Given the description of an element on the screen output the (x, y) to click on. 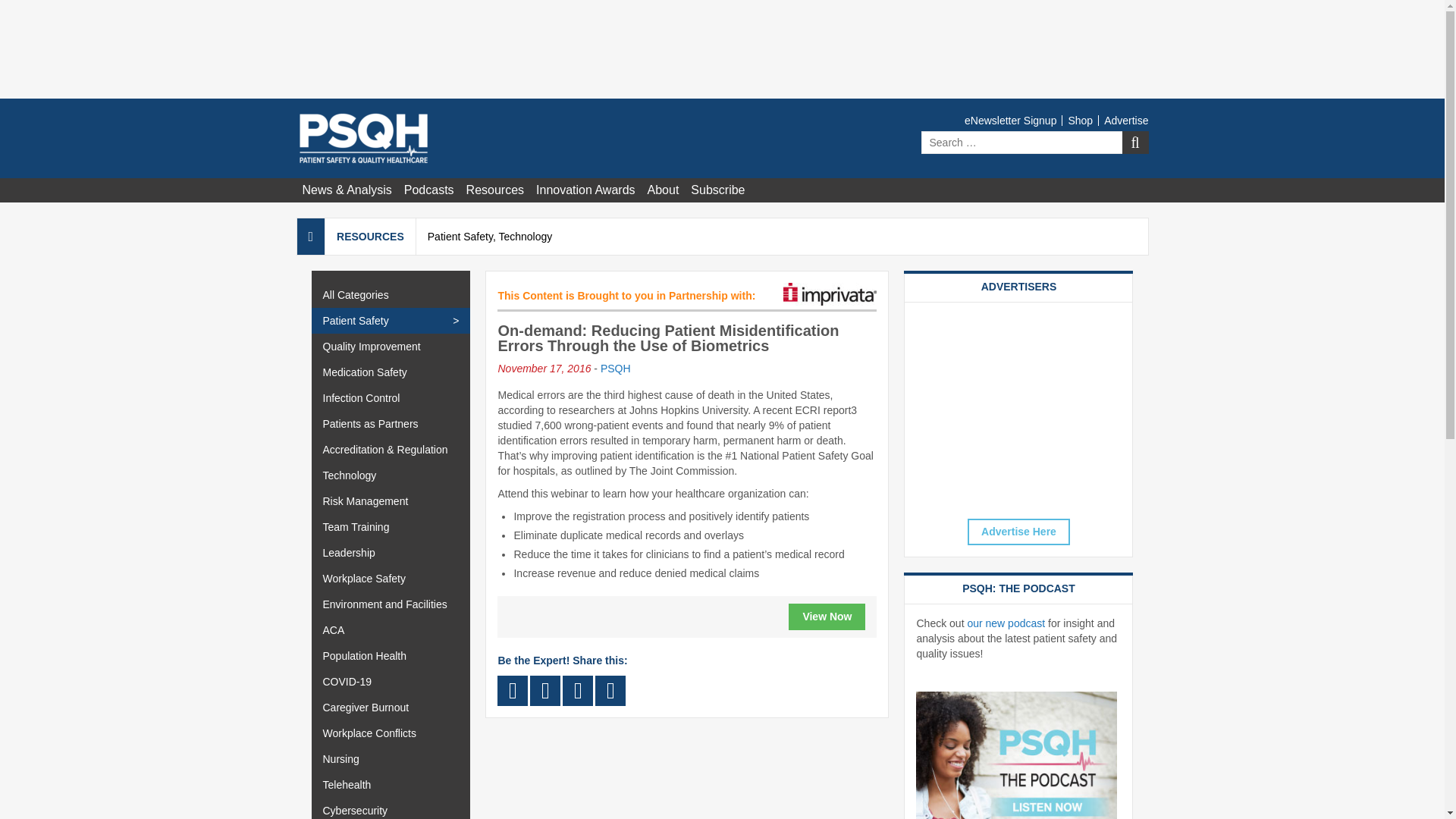
3rd party ad content (721, 49)
Posts by PSQH (614, 368)
Shop (1079, 120)
Innovation Awards (584, 190)
eNewsletter Signup (1012, 120)
3rd party ad content (1018, 408)
Resources (494, 190)
Advertise (1122, 120)
Search for: (1034, 142)
Podcasts (428, 190)
